Given the description of an element on the screen output the (x, y) to click on. 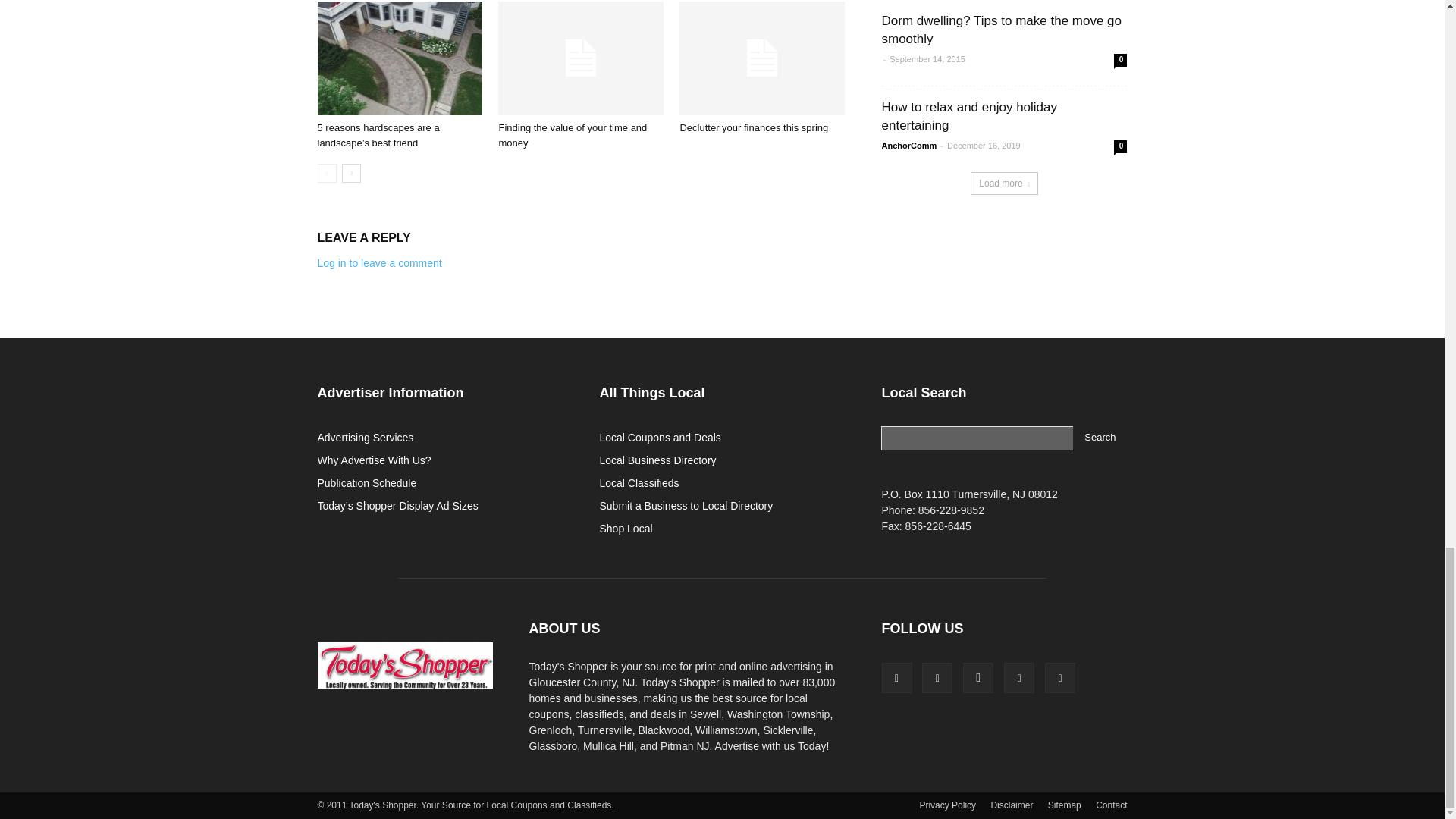
Search (1099, 437)
